Given the description of an element on the screen output the (x, y) to click on. 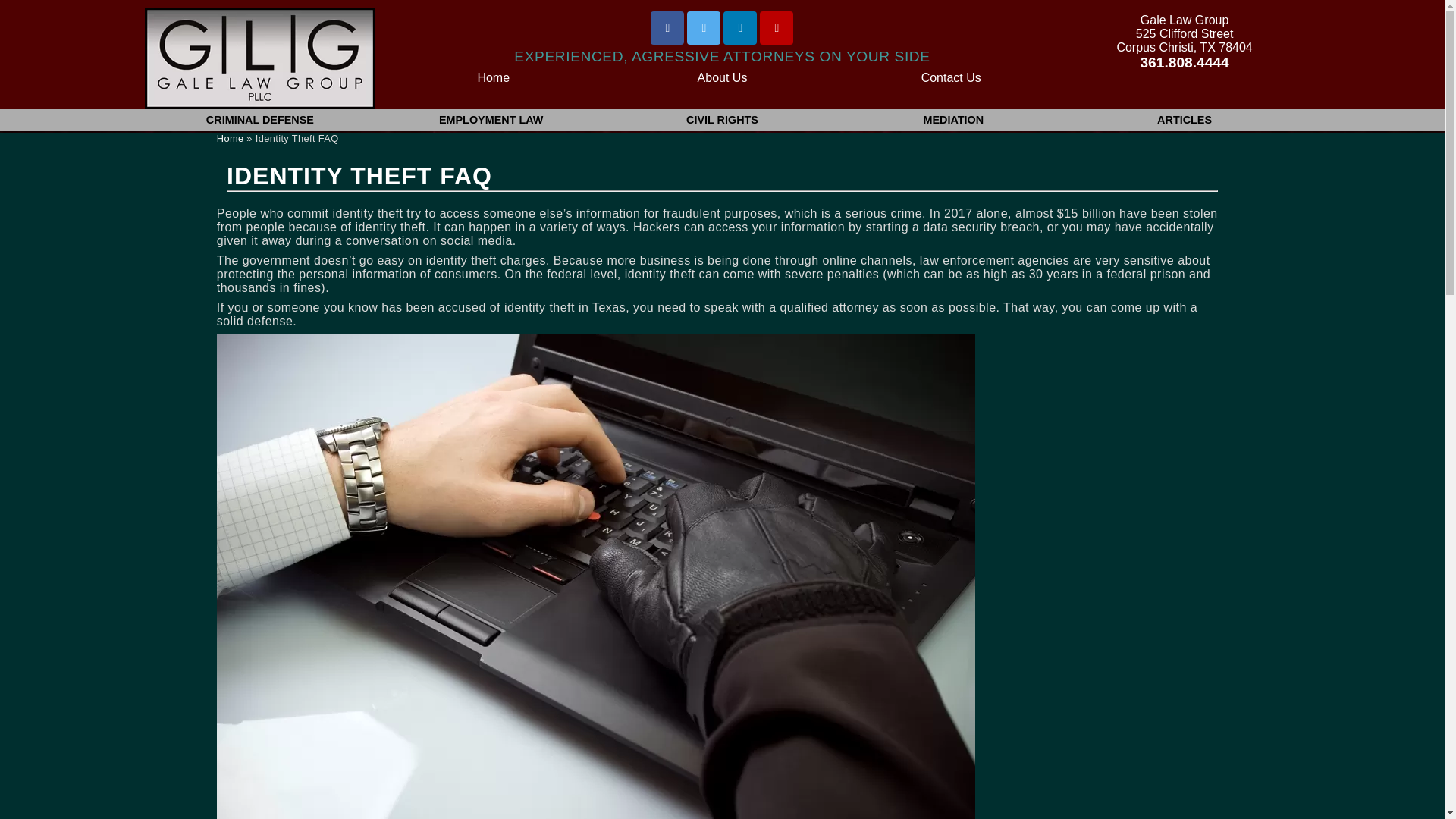
CRIMINAL DEFENSE (259, 119)
Contact Us (950, 78)
Home (493, 78)
About Us (722, 78)
361.808.4444 (1184, 62)
